Given the description of an element on the screen output the (x, y) to click on. 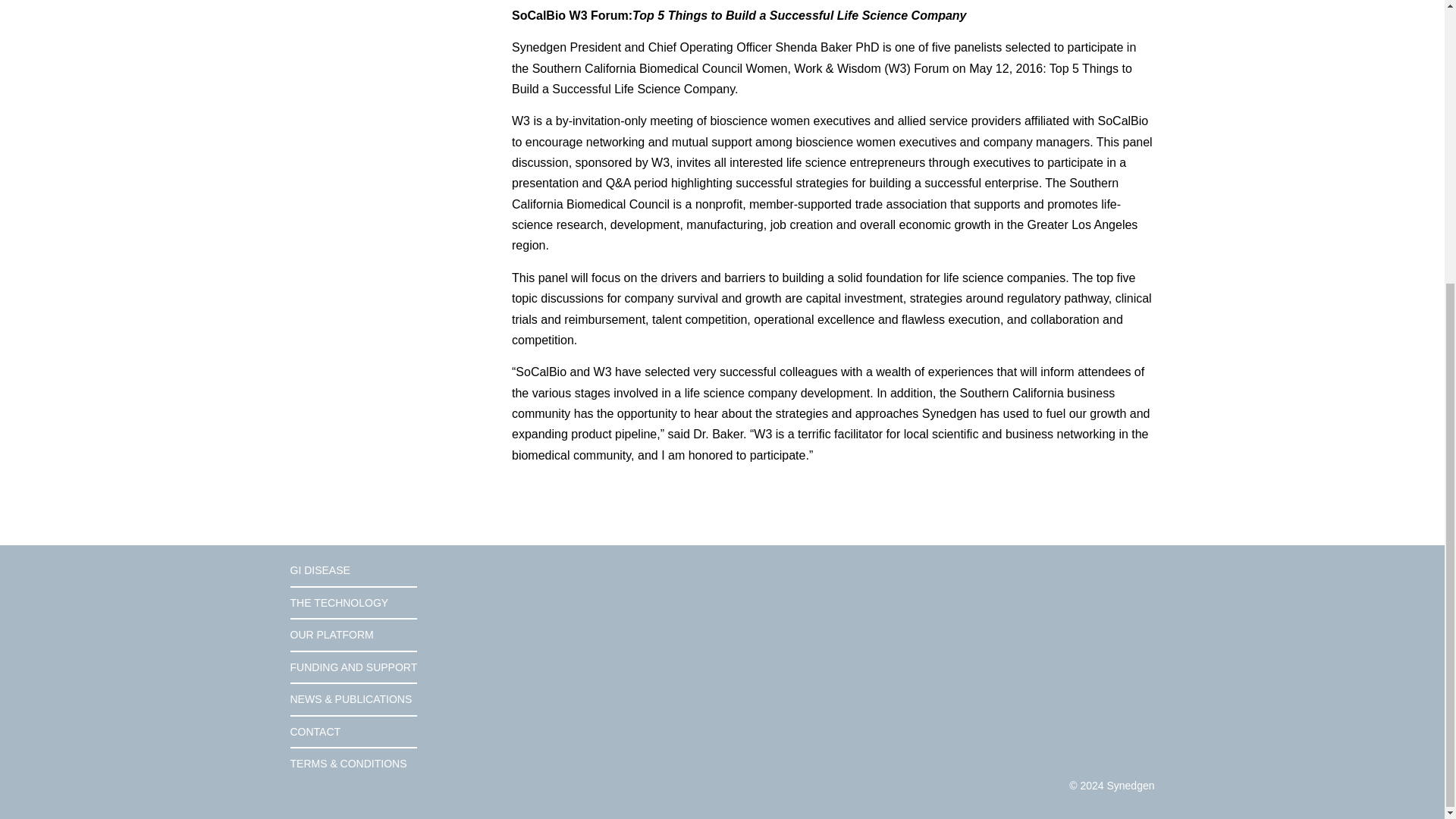
GI DISEASE (352, 575)
CONTACT (352, 731)
THE TECHNOLOGY (352, 603)
OUR PLATFORM (352, 634)
FUNDING AND SUPPORT (352, 667)
